Given the description of an element on the screen output the (x, y) to click on. 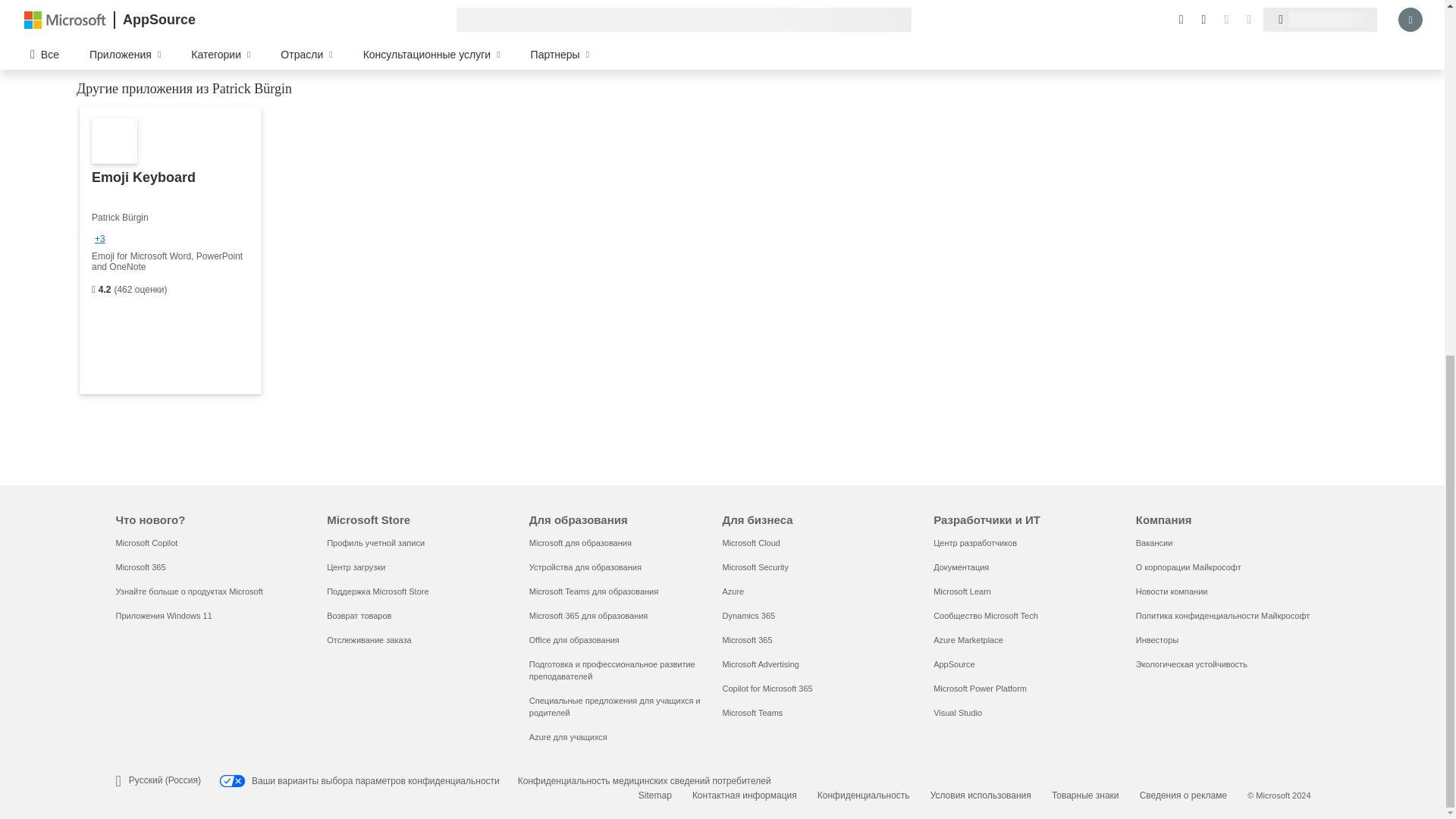
Microsoft Security (754, 566)
Microsoft Cloud (750, 542)
Azure (733, 591)
Microsoft 365 (140, 566)
Microsoft Copilot (146, 542)
